Given the description of an element on the screen output the (x, y) to click on. 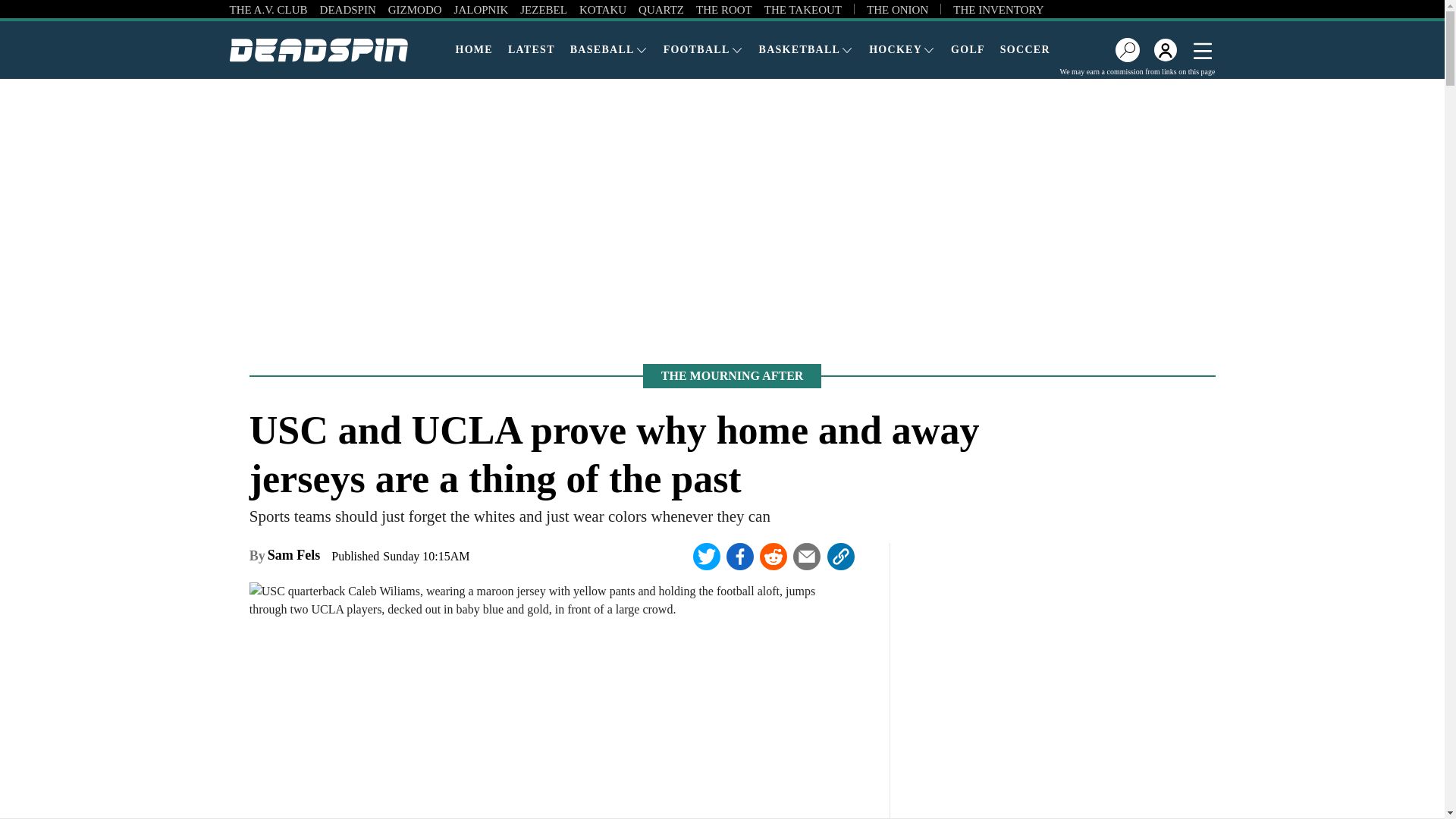
Share via Link (841, 556)
Share to Facebook (740, 556)
THE ONION (897, 9)
Share via Email (807, 556)
THE ROOT (723, 9)
HOME (472, 48)
THE INVENTORY (998, 9)
FOOTBALL (703, 48)
GIZMODO (415, 9)
